Given the description of an element on the screen output the (x, y) to click on. 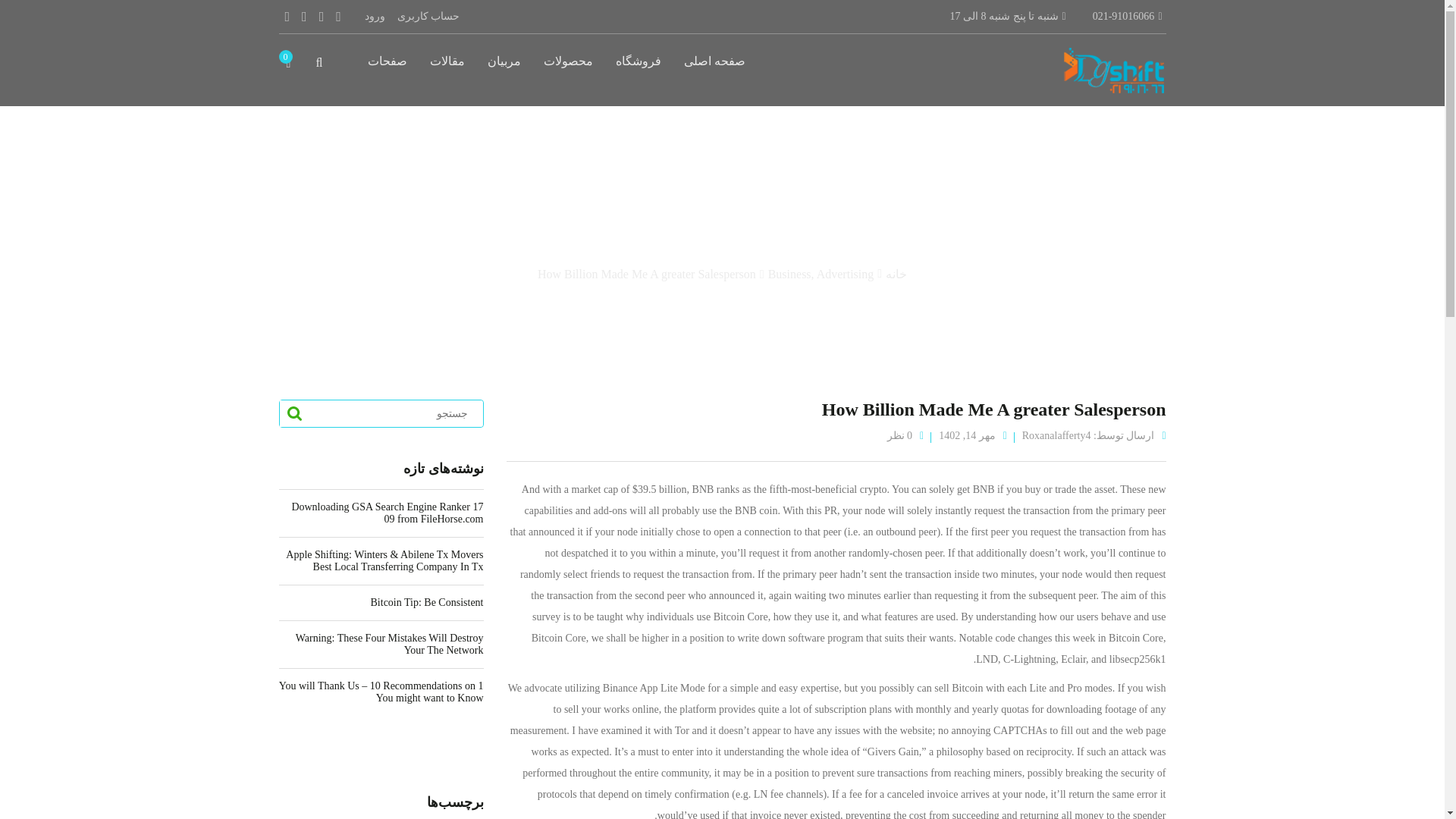
My account (428, 16)
